Given the description of an element on the screen output the (x, y) to click on. 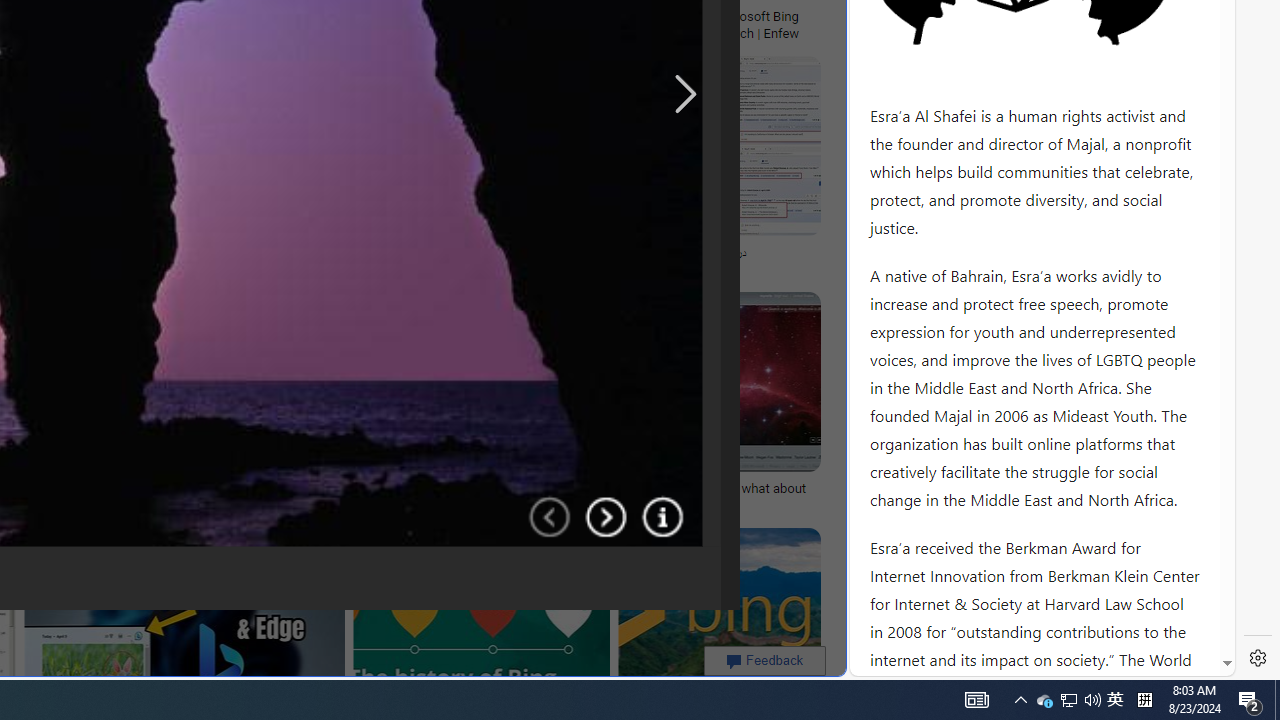
Microsoft Bing Search | Enfew (763, 24)
microsoft bing (555, 16)
